Given the description of an element on the screen output the (x, y) to click on. 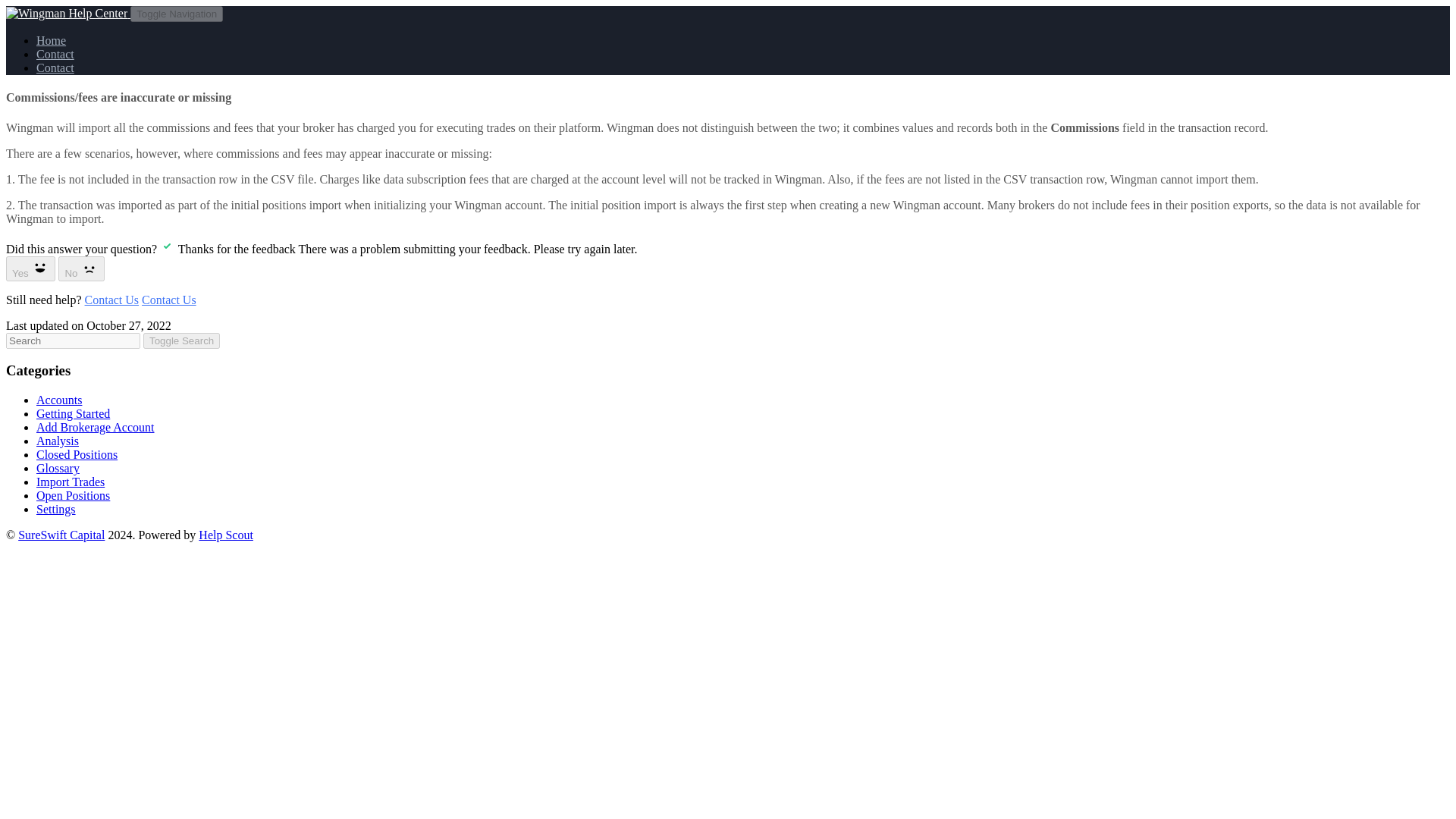
No (81, 268)
Contact (55, 53)
Import Trades (70, 481)
Contact Us (168, 299)
Contact Us (111, 299)
Home (50, 40)
Open Positions (73, 495)
Toggle Navigation (176, 13)
Getting Started (73, 413)
search-query (72, 340)
Glossary (58, 468)
Analysis (57, 440)
Closed Positions (76, 454)
Toggle Search (180, 340)
Contact (55, 67)
